Given the description of an element on the screen output the (x, y) to click on. 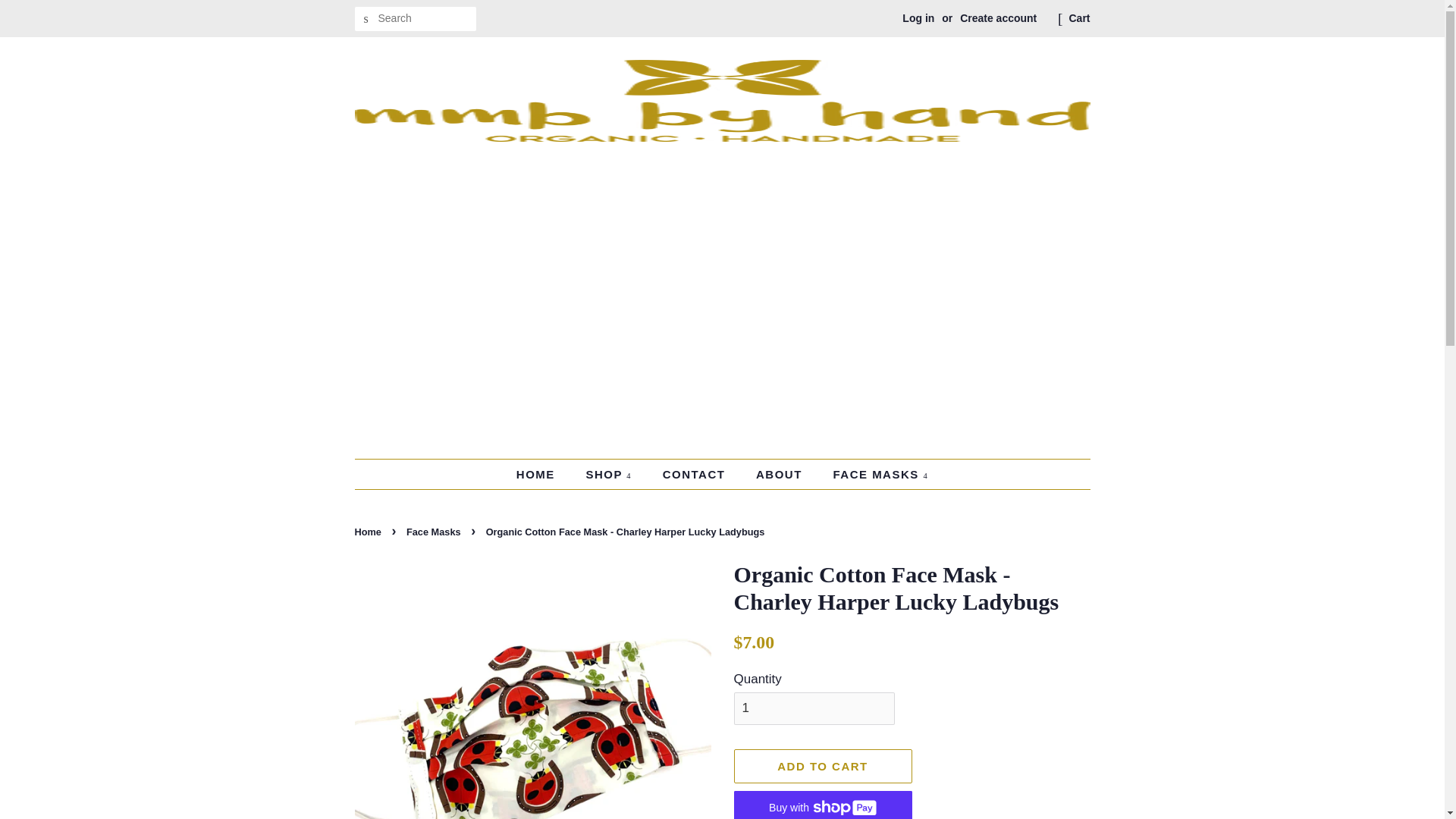
Cart (1078, 18)
Create account (997, 18)
1 (814, 707)
Back to the frontpage (370, 531)
SEARCH (366, 18)
Log in (918, 18)
